Given the description of an element on the screen output the (x, y) to click on. 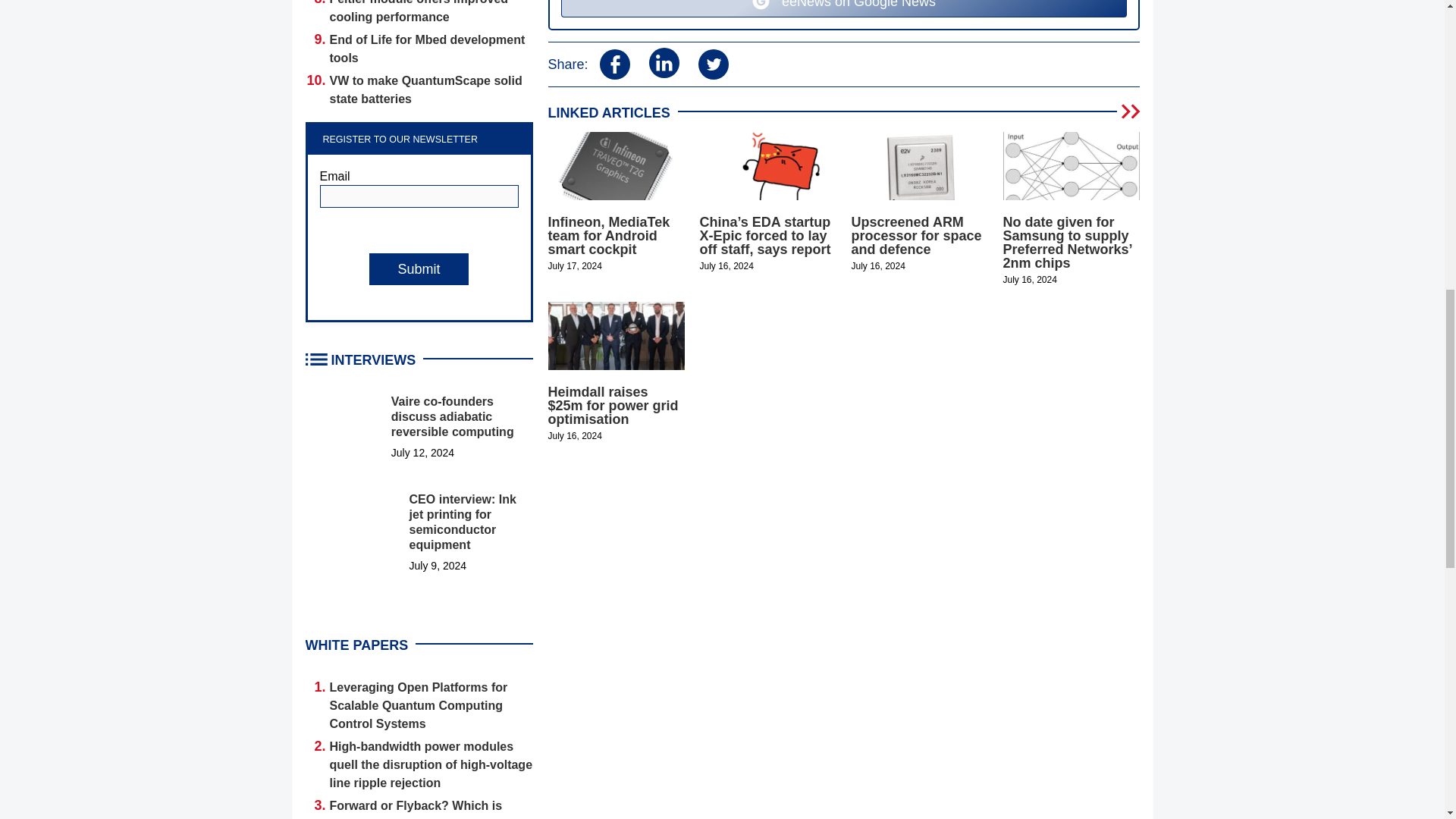
Submit (418, 269)
